Given the description of an element on the screen output the (x, y) to click on. 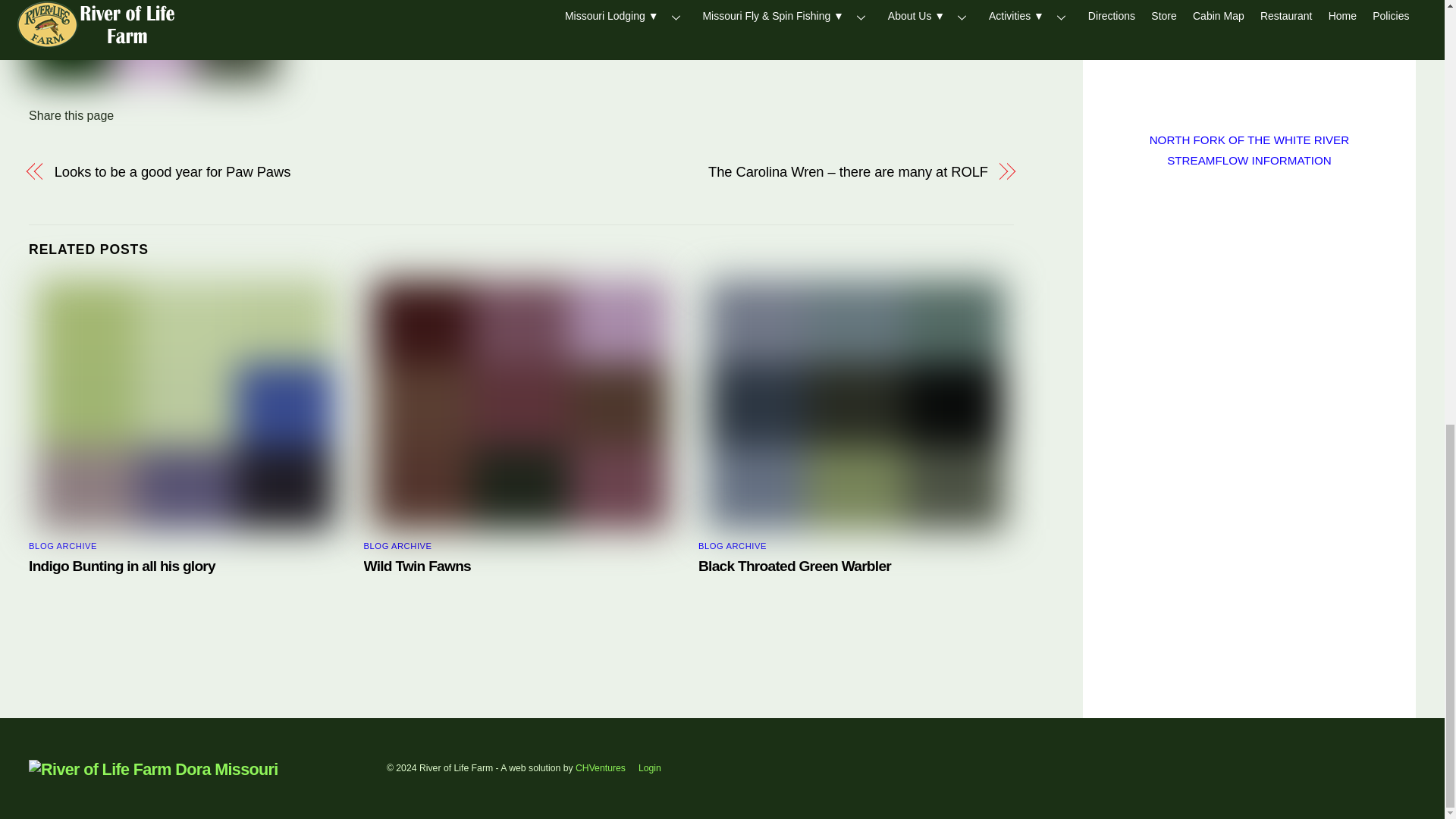
Indigo Bunting featured (186, 404)
deer-featured (520, 404)
Black Throated Green Warbler-featured (856, 404)
